Given the description of an element on the screen output the (x, y) to click on. 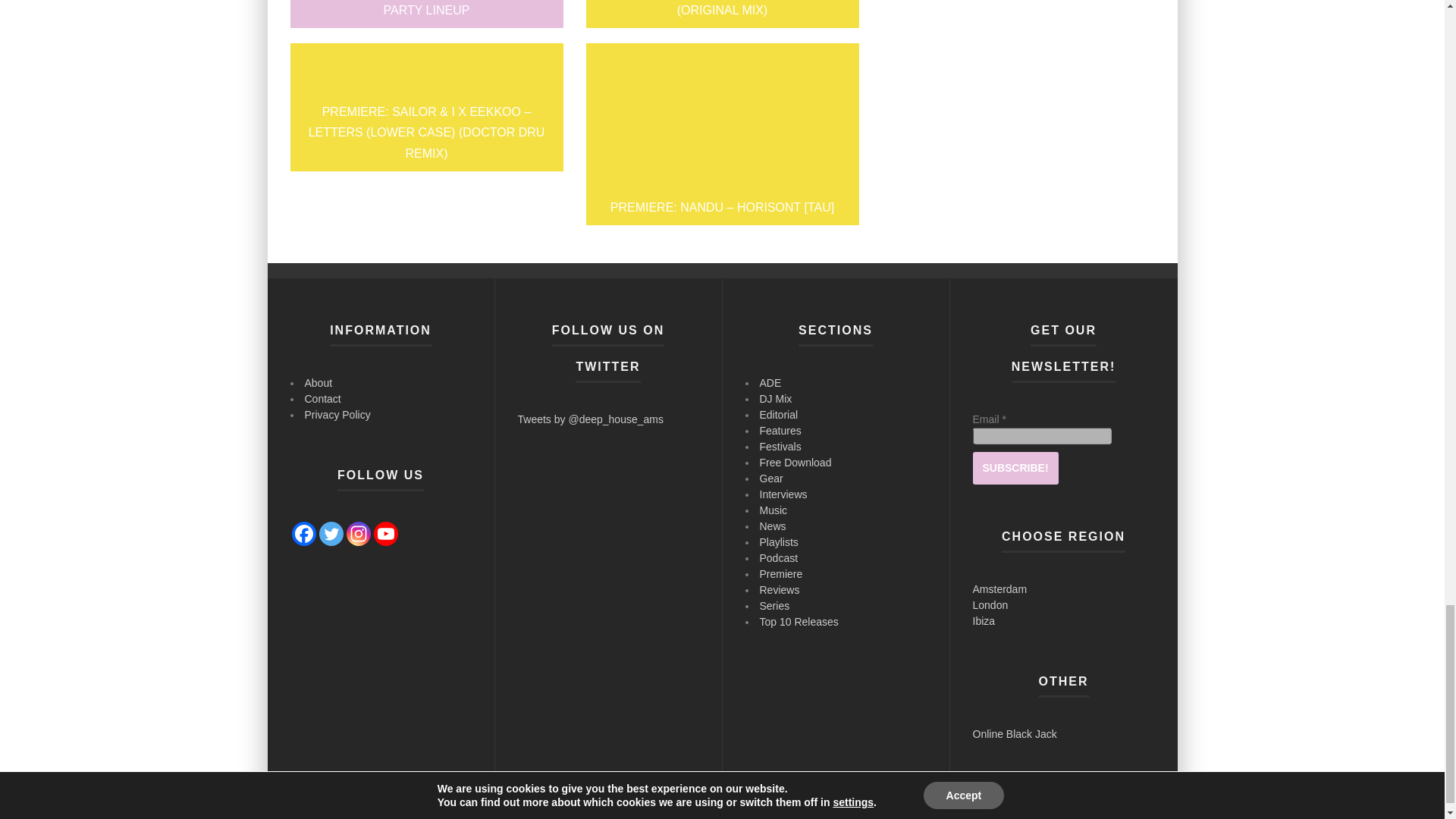
Youtube (384, 533)
Facebook (303, 533)
Twitter (330, 533)
Instagram (357, 533)
News (958, 805)
